Given the description of an element on the screen output the (x, y) to click on. 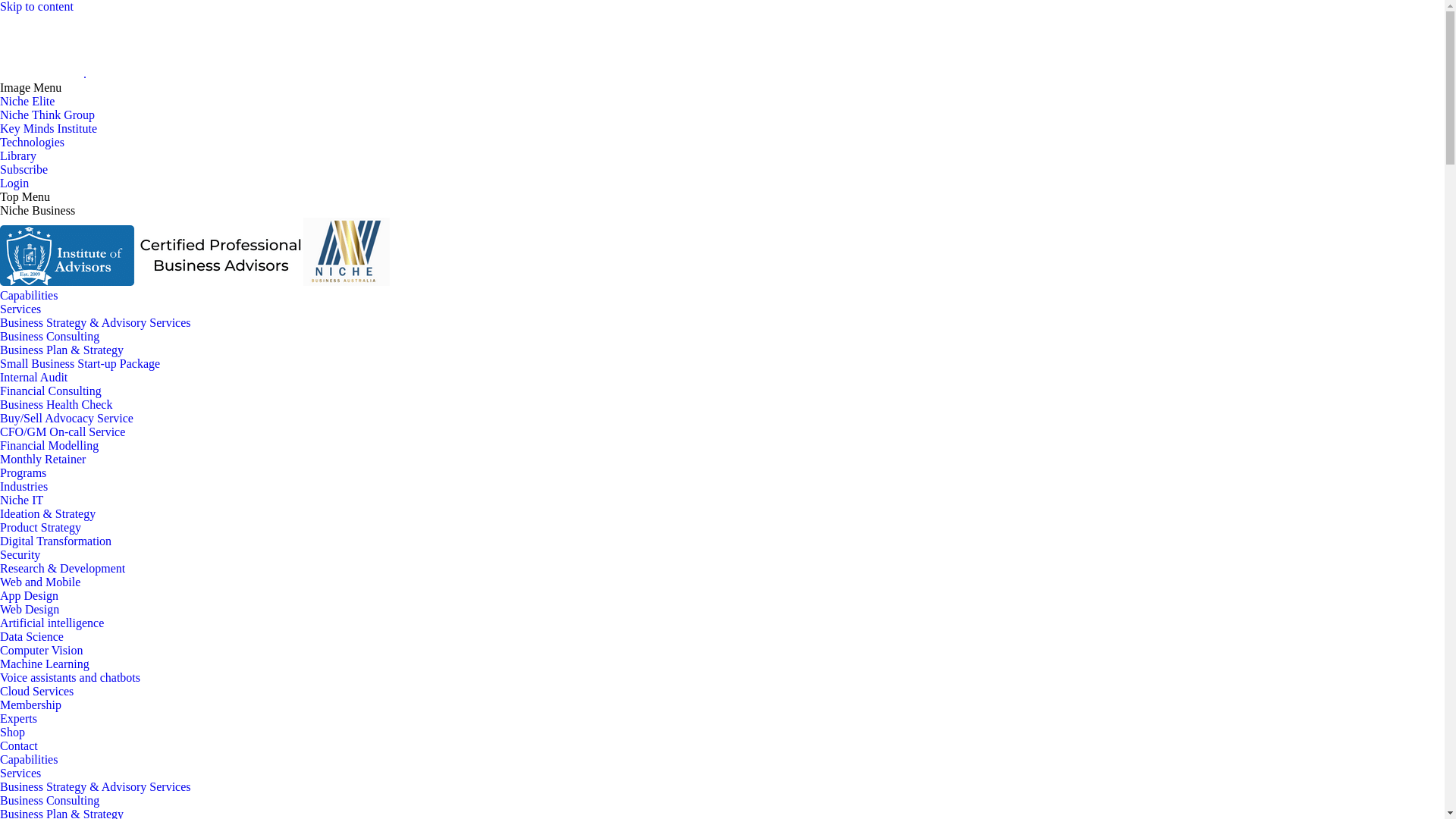
Key Minds Institute Element type: text (48, 128)
Internal Audit Element type: text (33, 376)
Artificial intelligence Element type: text (51, 622)
Web Design Element type: text (29, 608)
Machine Learning Element type: text (44, 663)
Business Consulting Element type: text (49, 799)
Niche Elite Element type: text (27, 100)
Niche IT Element type: text (21, 499)
Industries Element type: text (23, 486)
Voice assistants and chatbots Element type: text (70, 677)
Ideation & Strategy Element type: text (47, 513)
Data Science Element type: text (31, 636)
Monthly Retainer Element type: text (42, 458)
Financial Modelling Element type: text (49, 445)
Digital Transformation Element type: text (55, 540)
Niche Think Group Element type: text (47, 114)
Experts Element type: text (18, 718)
Services Element type: text (20, 772)
Business Consulting Element type: text (49, 335)
CFO/GM On-call Service Element type: text (62, 431)
Subscribe Element type: text (23, 169)
Financial Consulting Element type: text (50, 390)
Small Business Start-up Package Element type: text (80, 363)
App Design Element type: text (29, 595)
Cloud Services Element type: text (36, 690)
Library Element type: text (18, 155)
Business Health Check Element type: text (56, 404)
Capabilities Element type: text (28, 759)
Research & Development Element type: text (62, 567)
Web and Mobile Element type: text (40, 581)
Business Strategy & Advisory Services Element type: text (95, 322)
Security Element type: text (20, 554)
Technologies Element type: text (32, 141)
Buy/Sell Advocacy Service Element type: text (66, 417)
Computer Vision Element type: text (41, 649)
Shop Element type: text (12, 731)
Capabilities Element type: text (28, 294)
Contact Element type: text (18, 745)
Programs Element type: text (23, 472)
. Element type: text (43, 73)
Product Strategy Element type: text (40, 526)
Business Strategy & Advisory Services Element type: text (95, 786)
Business Plan & Strategy Element type: text (61, 349)
Login Element type: text (14, 182)
Services Element type: text (20, 308)
Skip to content Element type: text (36, 6)
Membership Element type: text (30, 704)
